Given the description of an element on the screen output the (x, y) to click on. 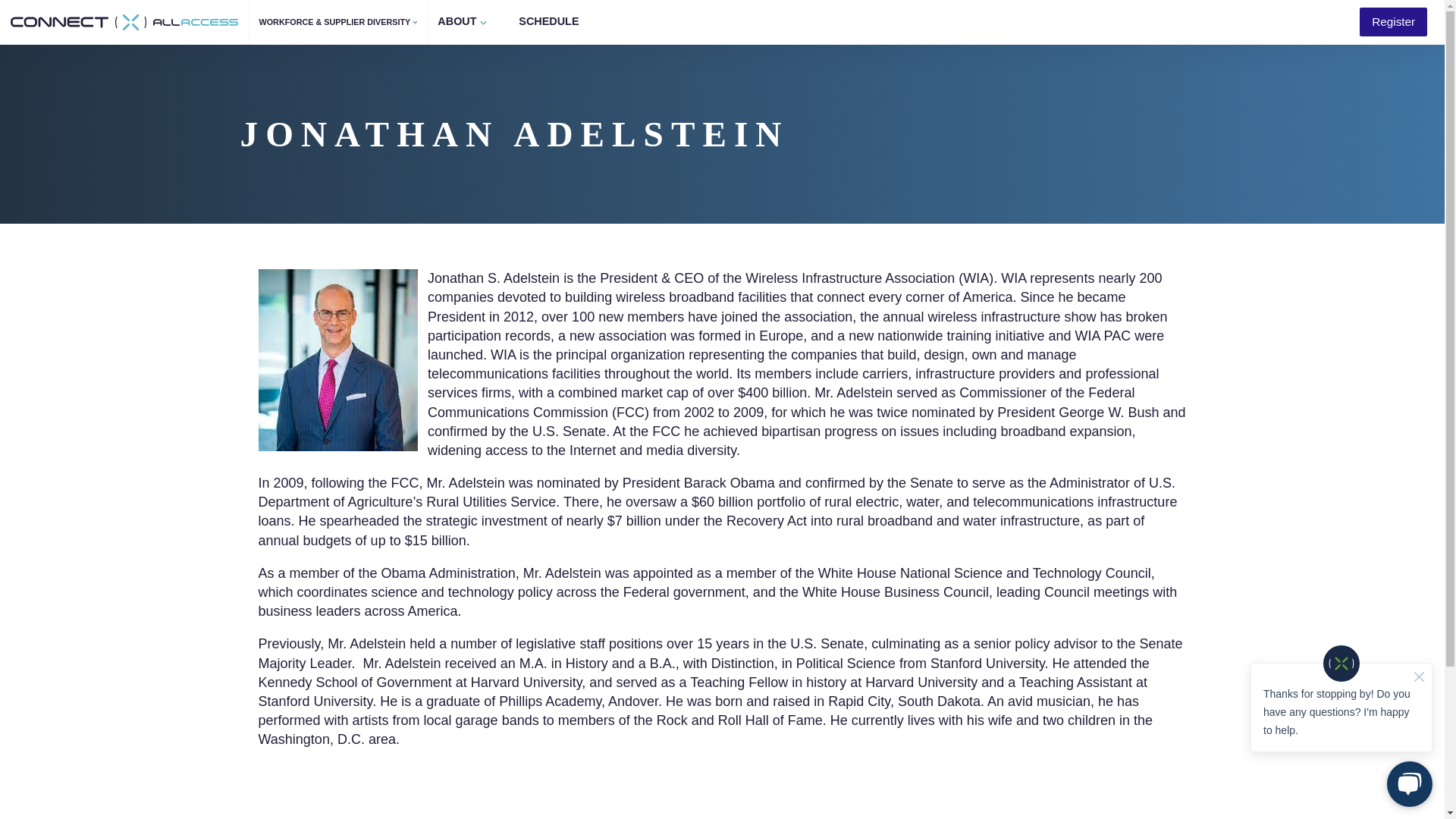
Register (1393, 21)
Register (1393, 21)
SCHEDULE (548, 21)
ABOUT (462, 22)
